Given the description of an element on the screen output the (x, y) to click on. 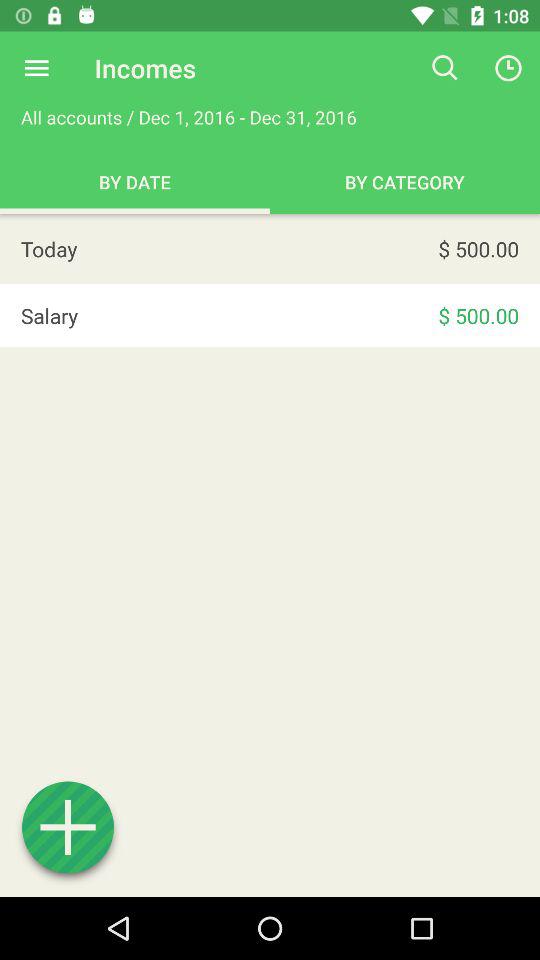
press the icon to the right of all accounts dec app (444, 67)
